Given the description of an element on the screen output the (x, y) to click on. 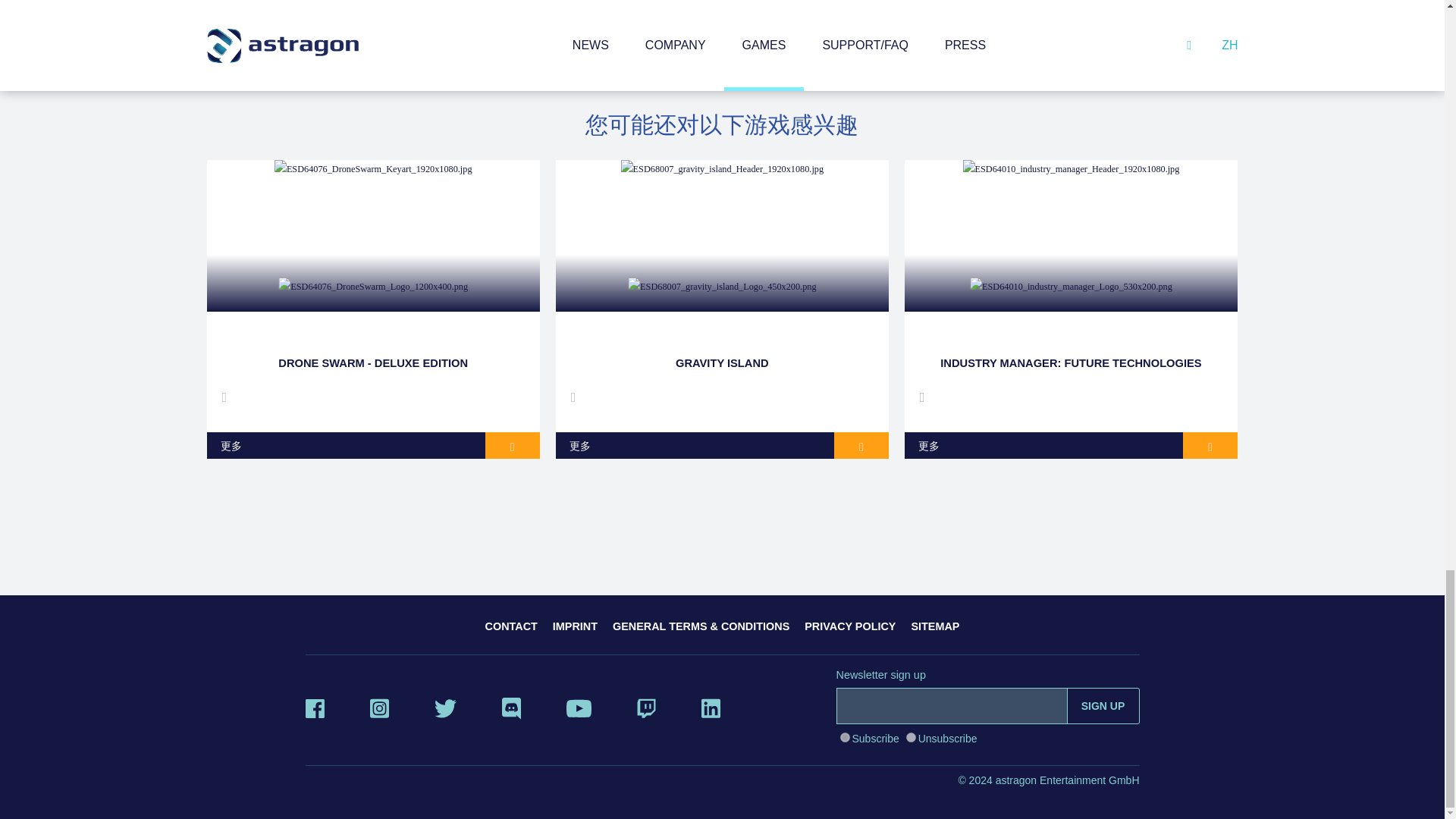
true (845, 737)
sign up (1103, 705)
false (910, 737)
